Given the description of an element on the screen output the (x, y) to click on. 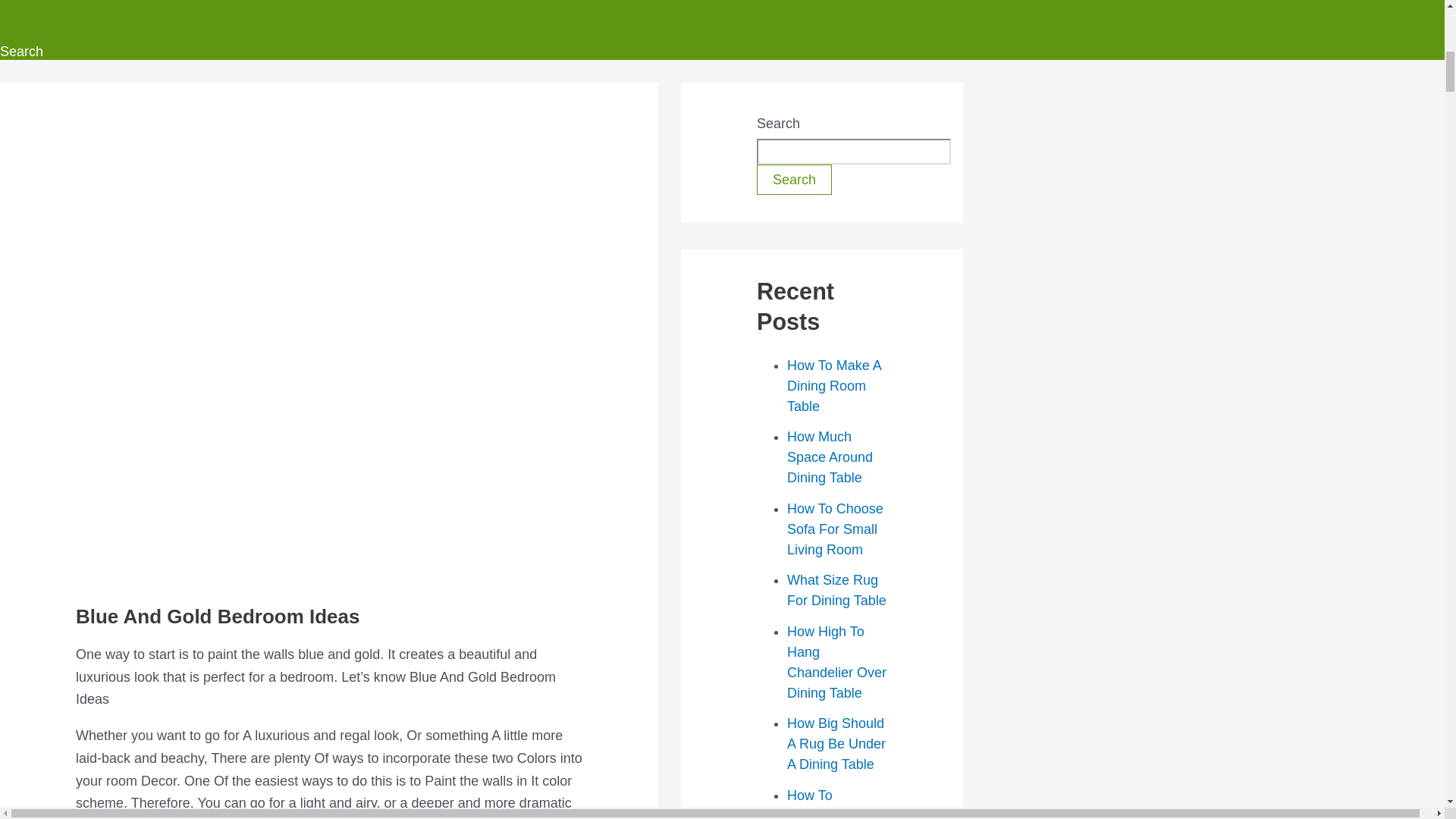
How To Decorate A Dining Room Table For Everyday (826, 803)
How Much Space Around Dining Table (829, 457)
How To Choose Sofa For Small Living Room (835, 529)
BLOG (97, 15)
How High To Hang Chandelier Over Dining Table (836, 662)
Search (794, 179)
What Size Rug For Dining Table (836, 590)
How To Make A Dining Room Table (833, 385)
Search (21, 51)
How Big Should A Rug Be Under A Dining Table (836, 743)
